Given the description of an element on the screen output the (x, y) to click on. 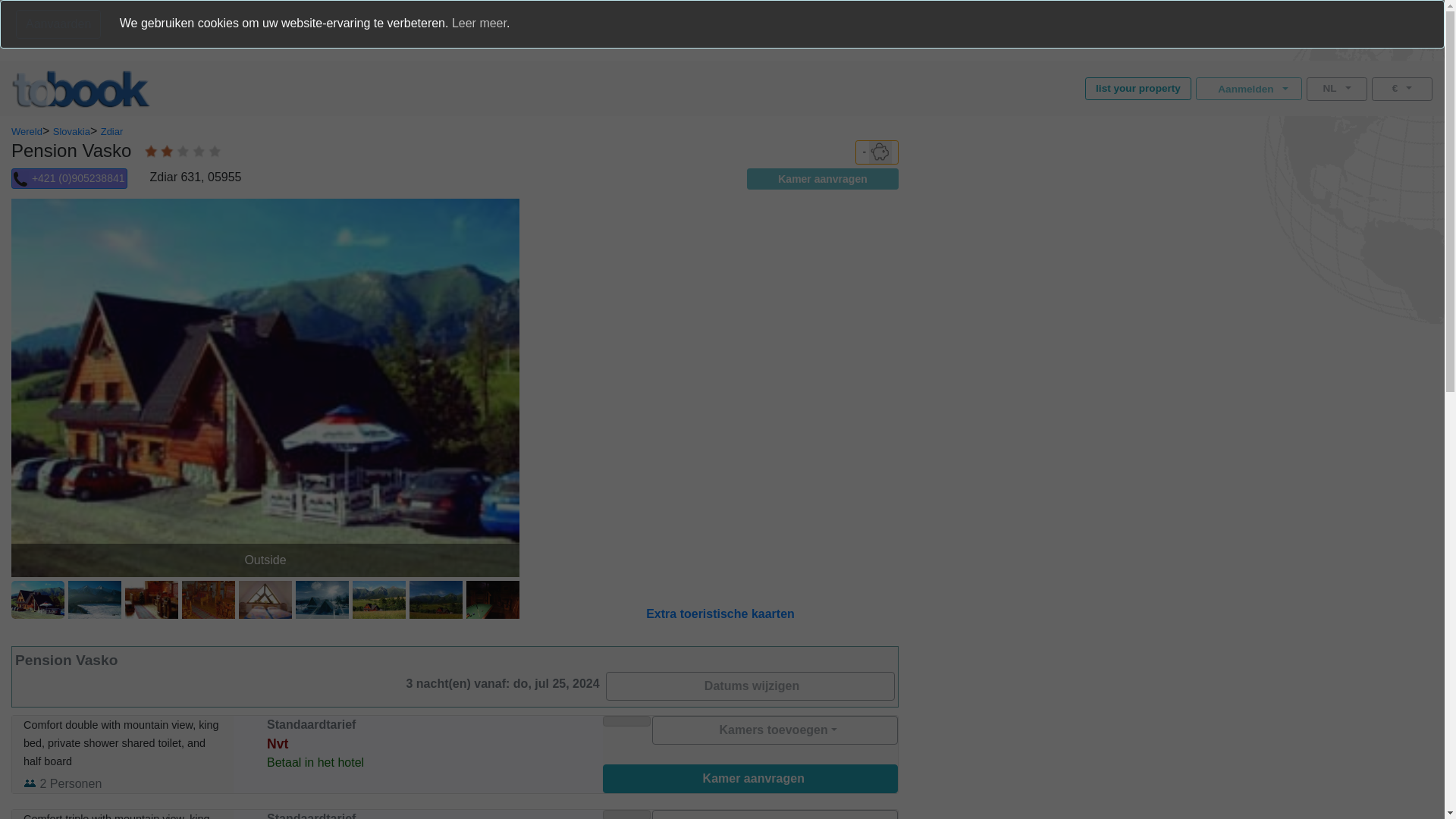
Cash Back (877, 152)
2 sterren (183, 151)
tobook.com, hier om tegemoet te komen (80, 88)
